Given the description of an element on the screen output the (x, y) to click on. 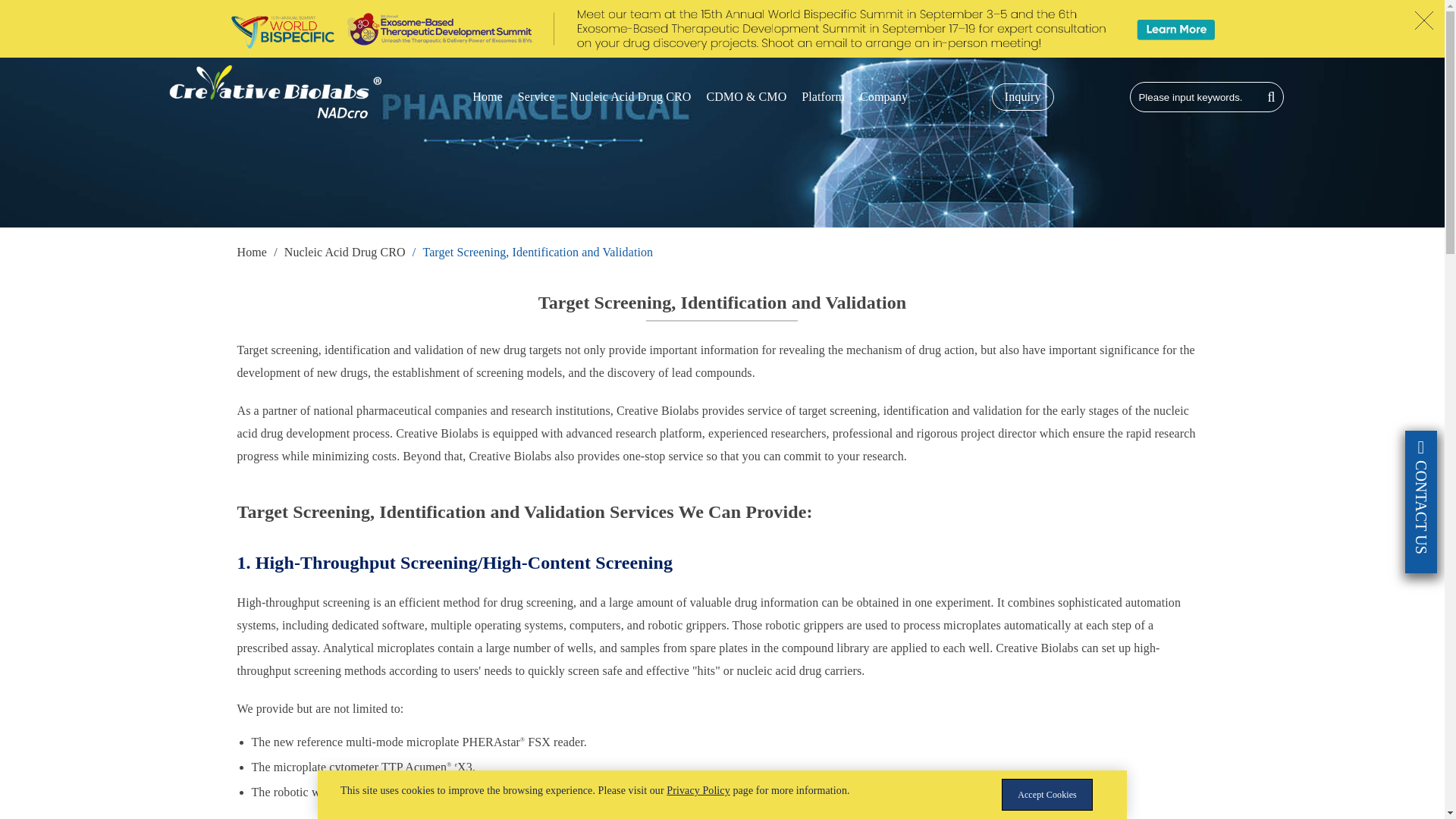
Home (486, 96)
Nucleic Acid Drug CRO (630, 96)
Inquiry (1022, 96)
Nucleic Acid Drug CRO (344, 251)
Service (536, 96)
Platform (823, 96)
Home (250, 251)
Company (883, 96)
